Given the description of an element on the screen output the (x, y) to click on. 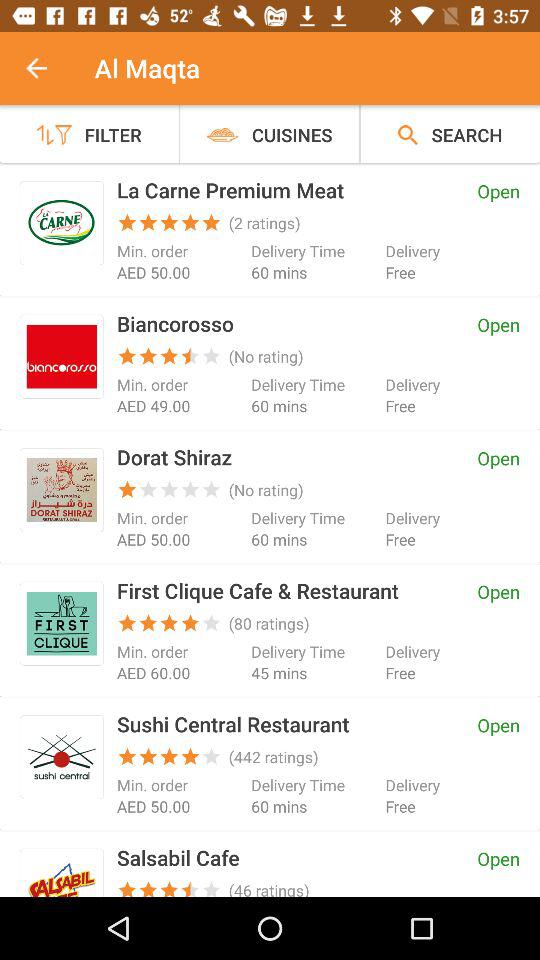
click on sushi central restaurant (61, 756)
